Given the description of an element on the screen output the (x, y) to click on. 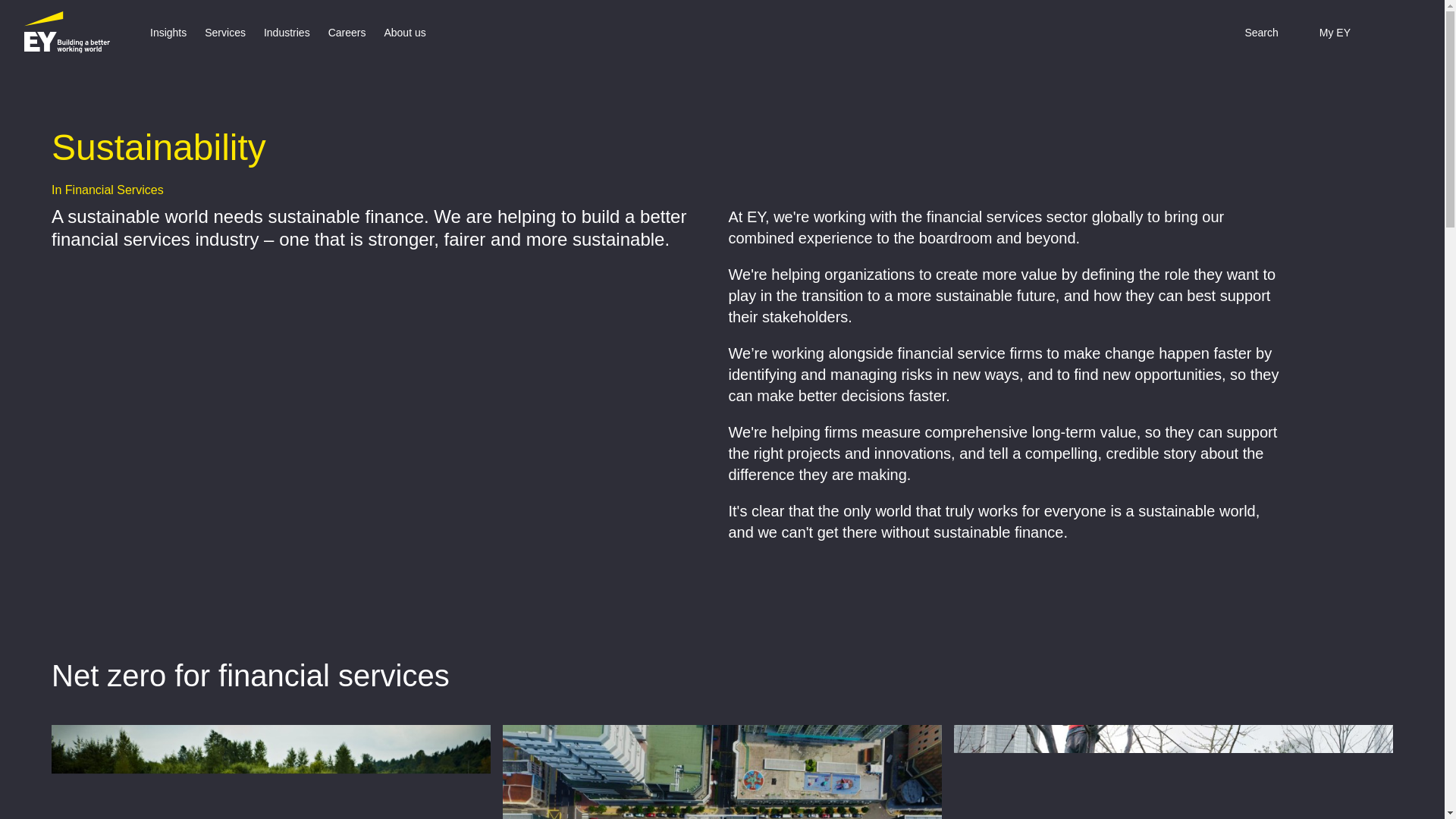
EY Homepage (67, 32)
Open search (1250, 32)
My EY (1324, 32)
